Given the description of an element on the screen output the (x, y) to click on. 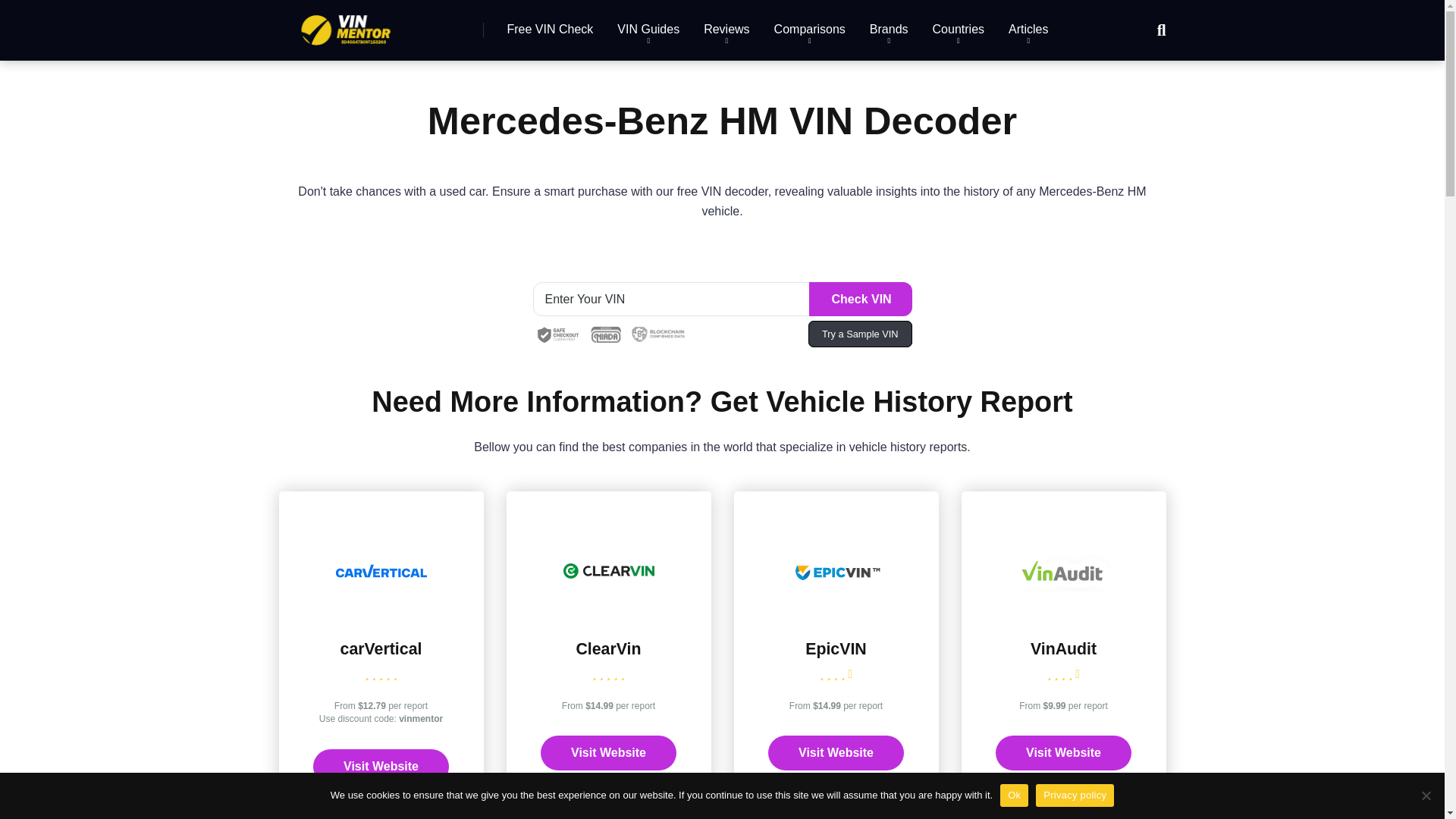
Visit Website (1063, 752)
Brands (888, 30)
EpicVIN (835, 612)
VIN Mentor (346, 24)
Check VIN (859, 298)
VinAudit (1063, 648)
carVertical (380, 612)
Free VIN Check (550, 30)
Visit Website (380, 766)
Comparisons (809, 30)
